Given the description of an element on the screen output the (x, y) to click on. 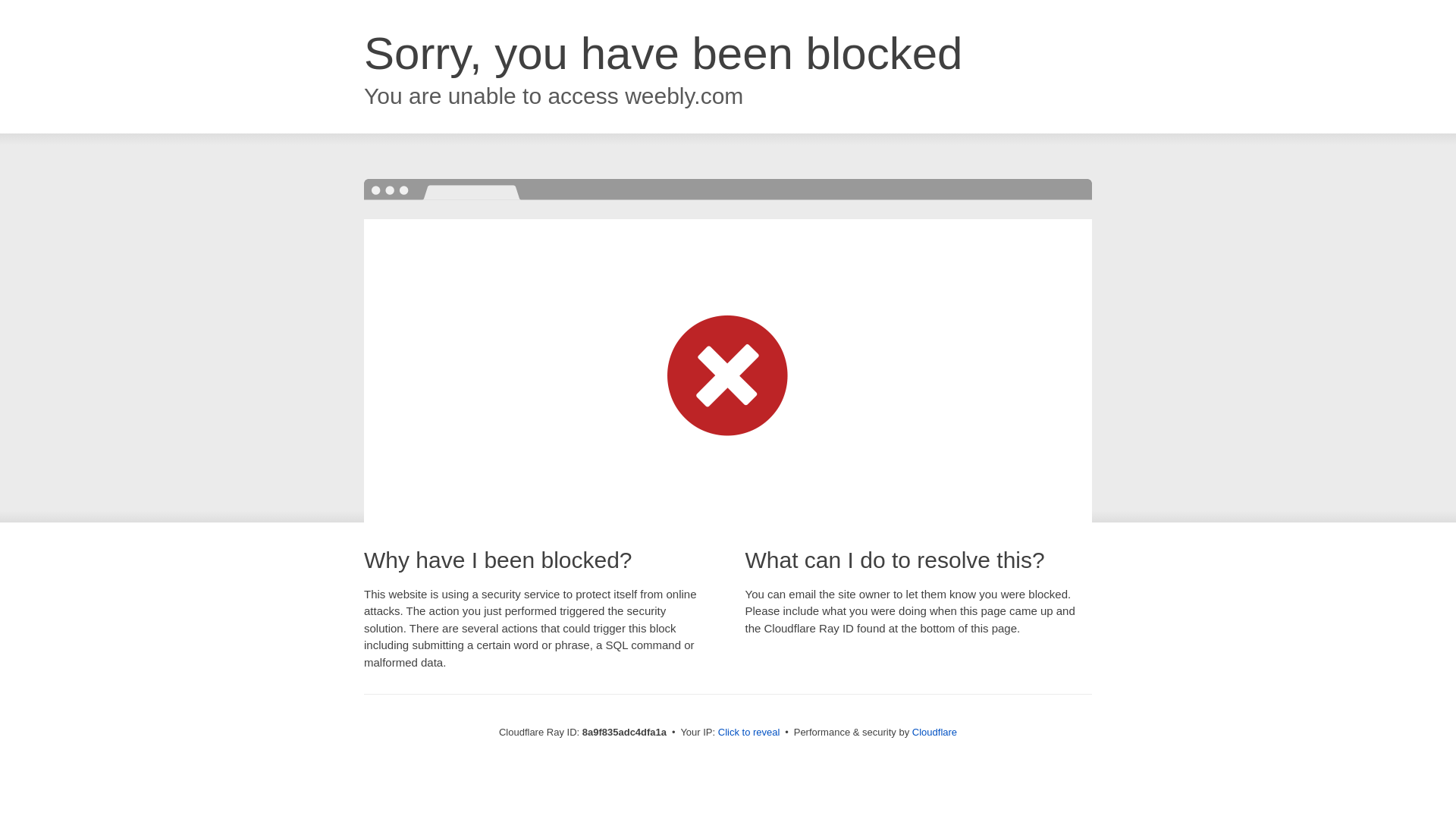
Click to reveal (748, 732)
Cloudflare (934, 731)
